Given the description of an element on the screen output the (x, y) to click on. 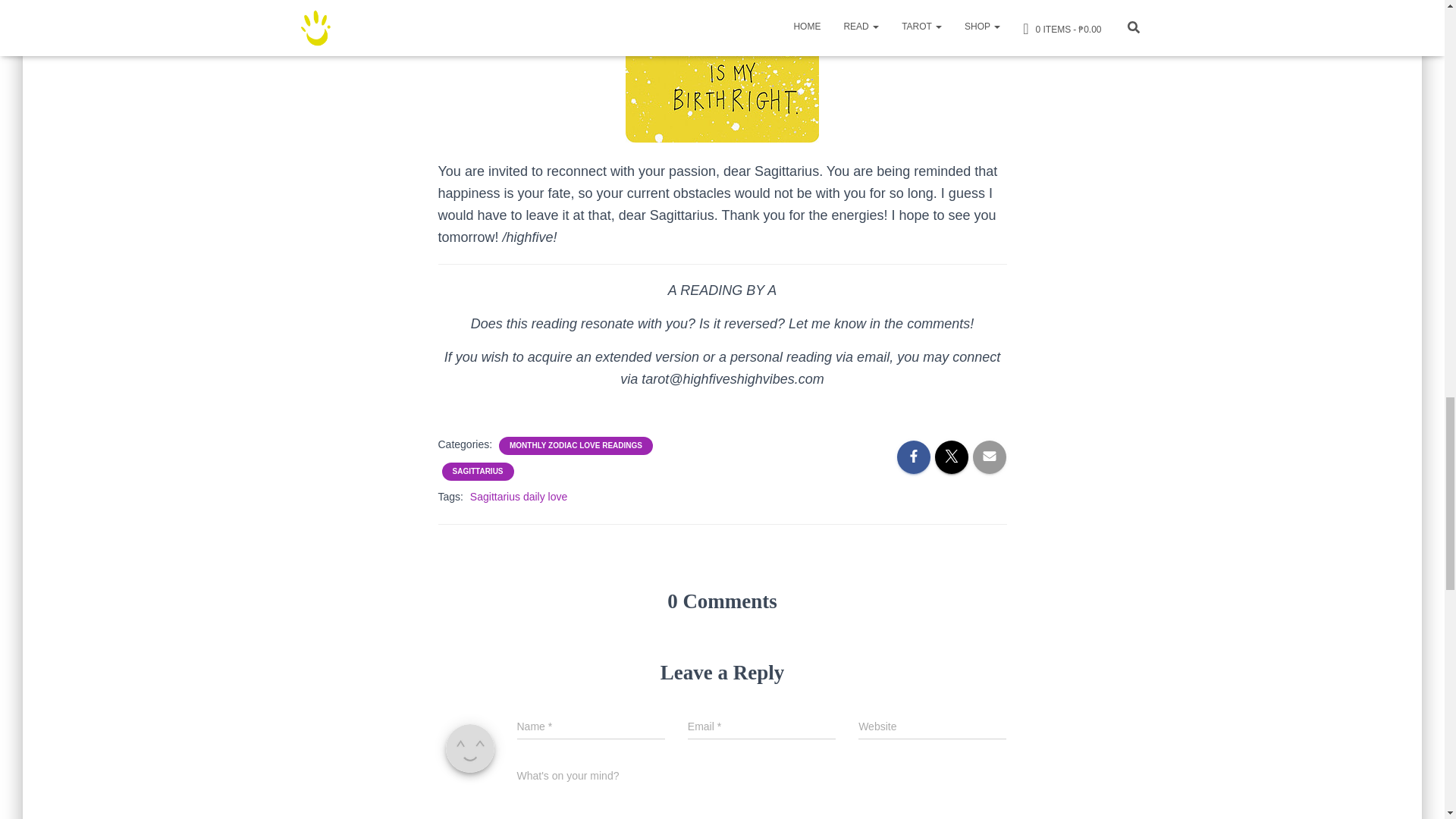
MONTHLY ZODIAC LOVE READINGS (575, 445)
SAGITTARIUS (476, 471)
Sagittarius daily love (518, 496)
